Given the description of an element on the screen output the (x, y) to click on. 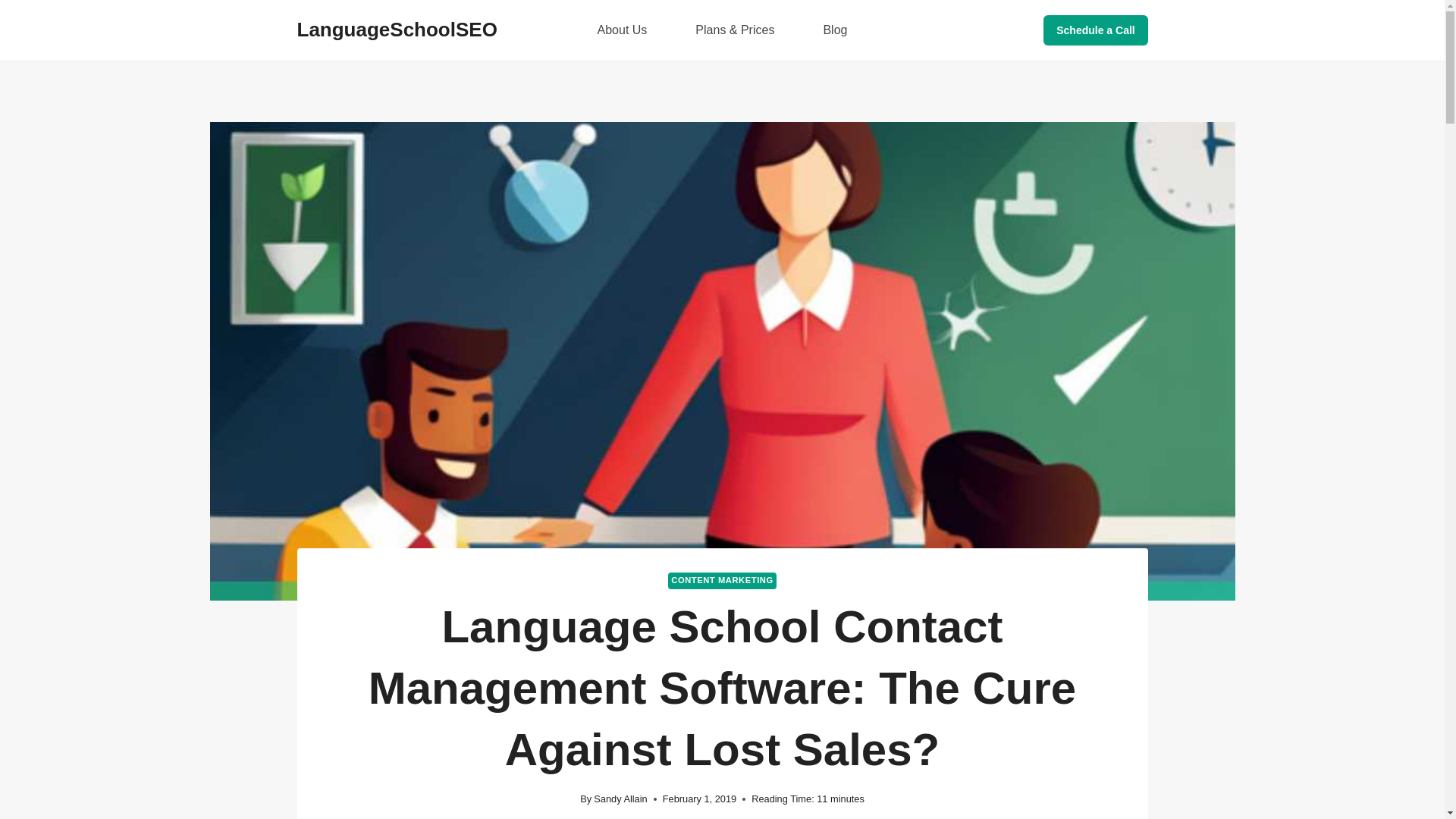
CONTENT MARKETING (722, 580)
Schedule a Call (1095, 30)
Blog (833, 30)
About Us (622, 30)
LanguageSchoolSEO (397, 29)
Sandy Allain (620, 798)
